Given the description of an element on the screen output the (x, y) to click on. 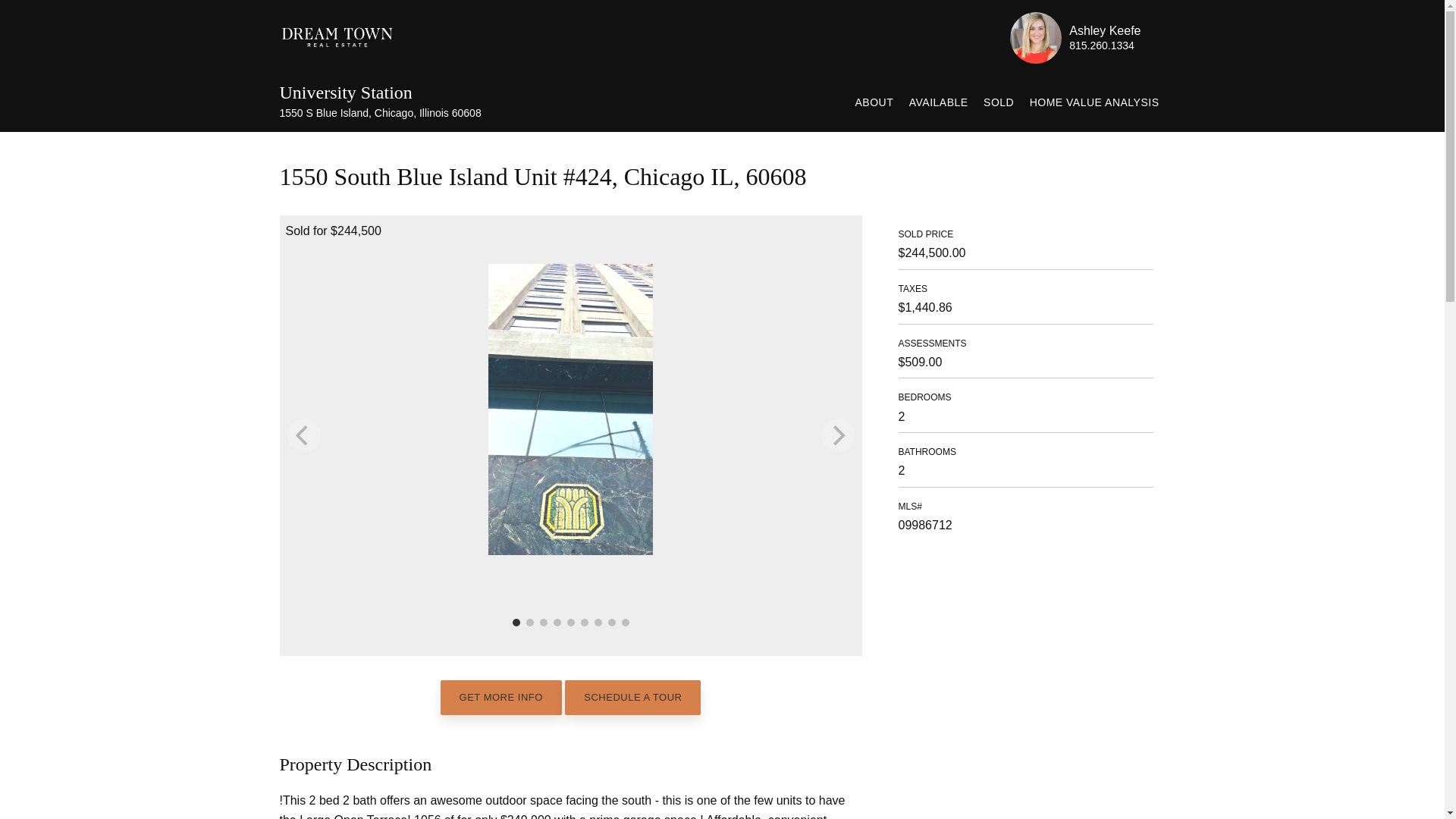
815.260.1334 (1101, 45)
SOLD (998, 102)
ABOUT (873, 102)
GET MORE INFO (501, 697)
HOME VALUE ANALYSIS (1094, 102)
AVAILABLE (938, 102)
SCHEDULE A TOUR (632, 697)
